Given the description of an element on the screen output the (x, y) to click on. 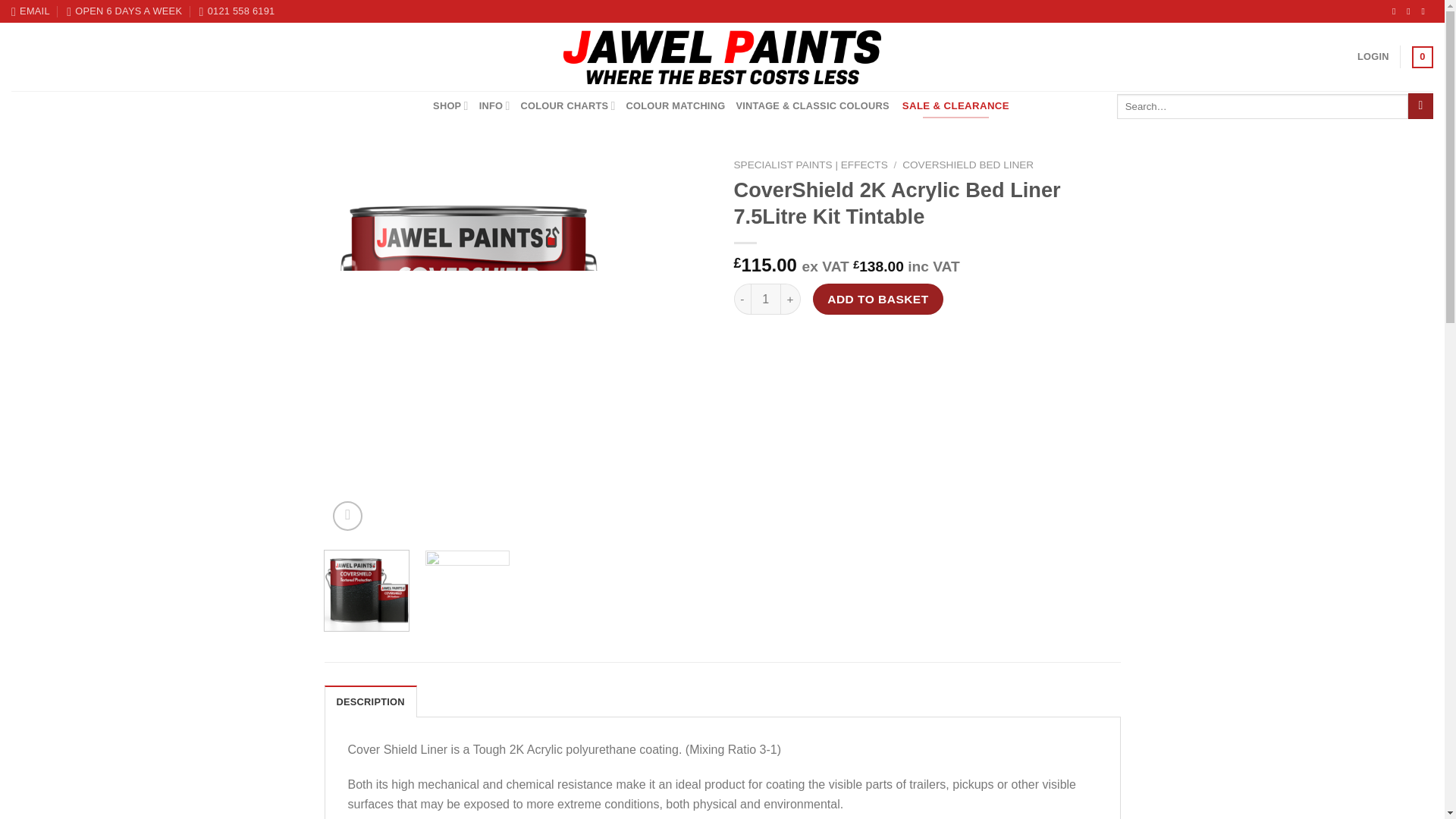
0121 558 6191 (237, 11)
Zoom (347, 515)
0121 558 6191 (237, 11)
EMAIL (30, 11)
Login (1372, 56)
OPEN 6 DAYS A WEEK (124, 11)
LOGIN (1372, 56)
Jawel Paints - Where The Best Costs Less (722, 56)
SHOP (450, 105)
1 (765, 298)
